Given the description of an element on the screen output the (x, y) to click on. 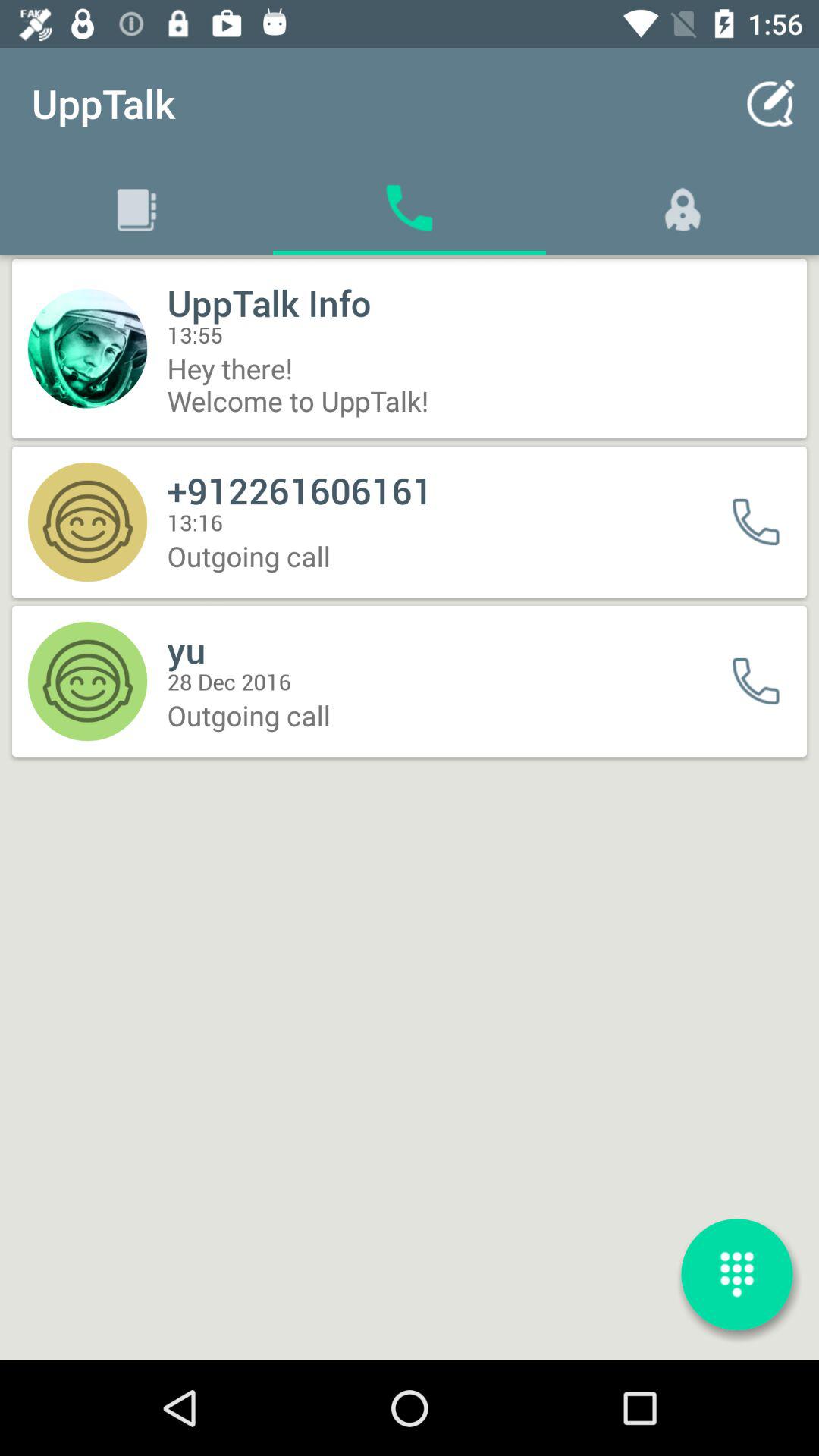
select item to the right of the upptalk (771, 103)
